Given the description of an element on the screen output the (x, y) to click on. 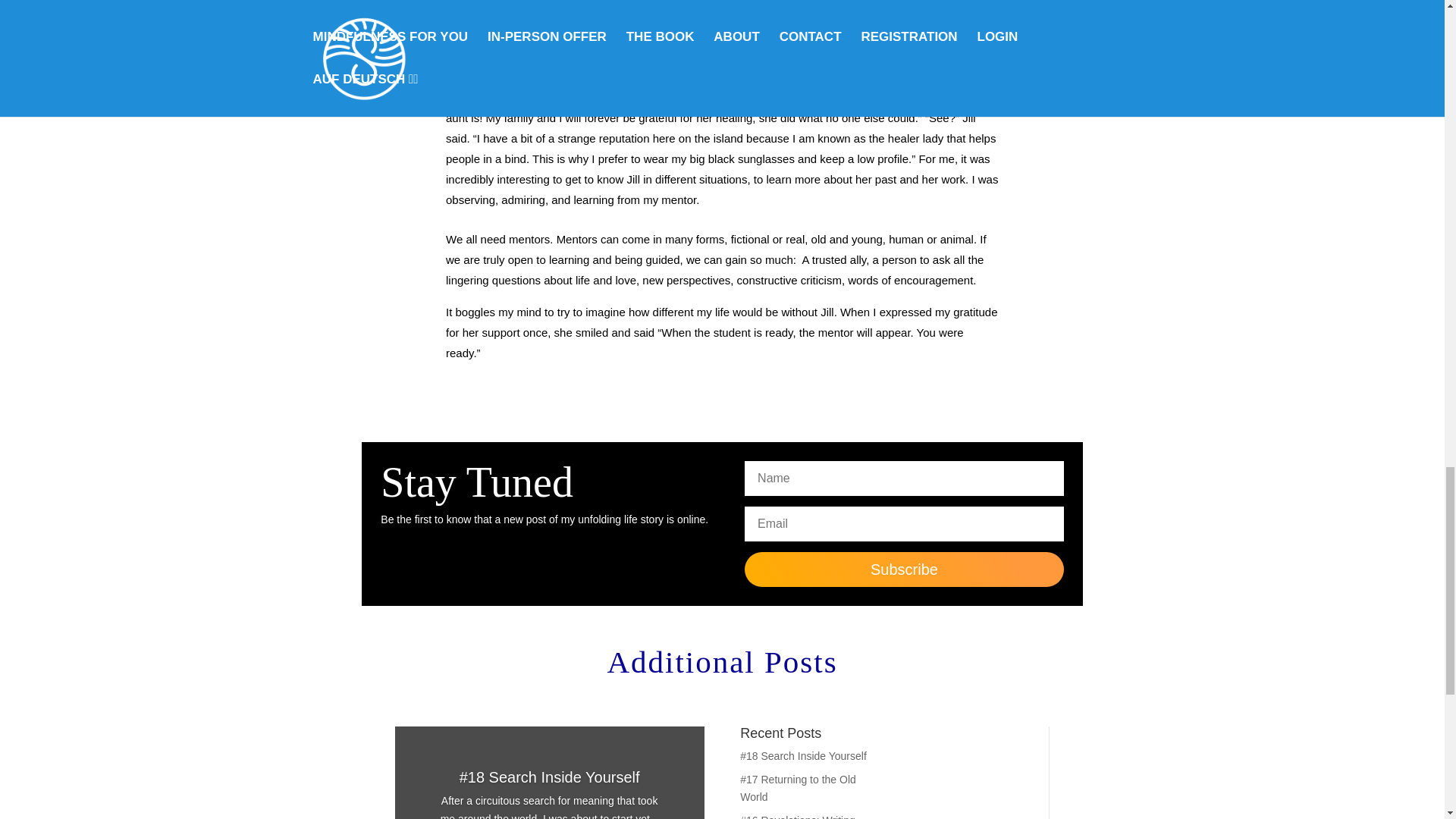
Subscribe (903, 569)
